Given the description of an element on the screen output the (x, y) to click on. 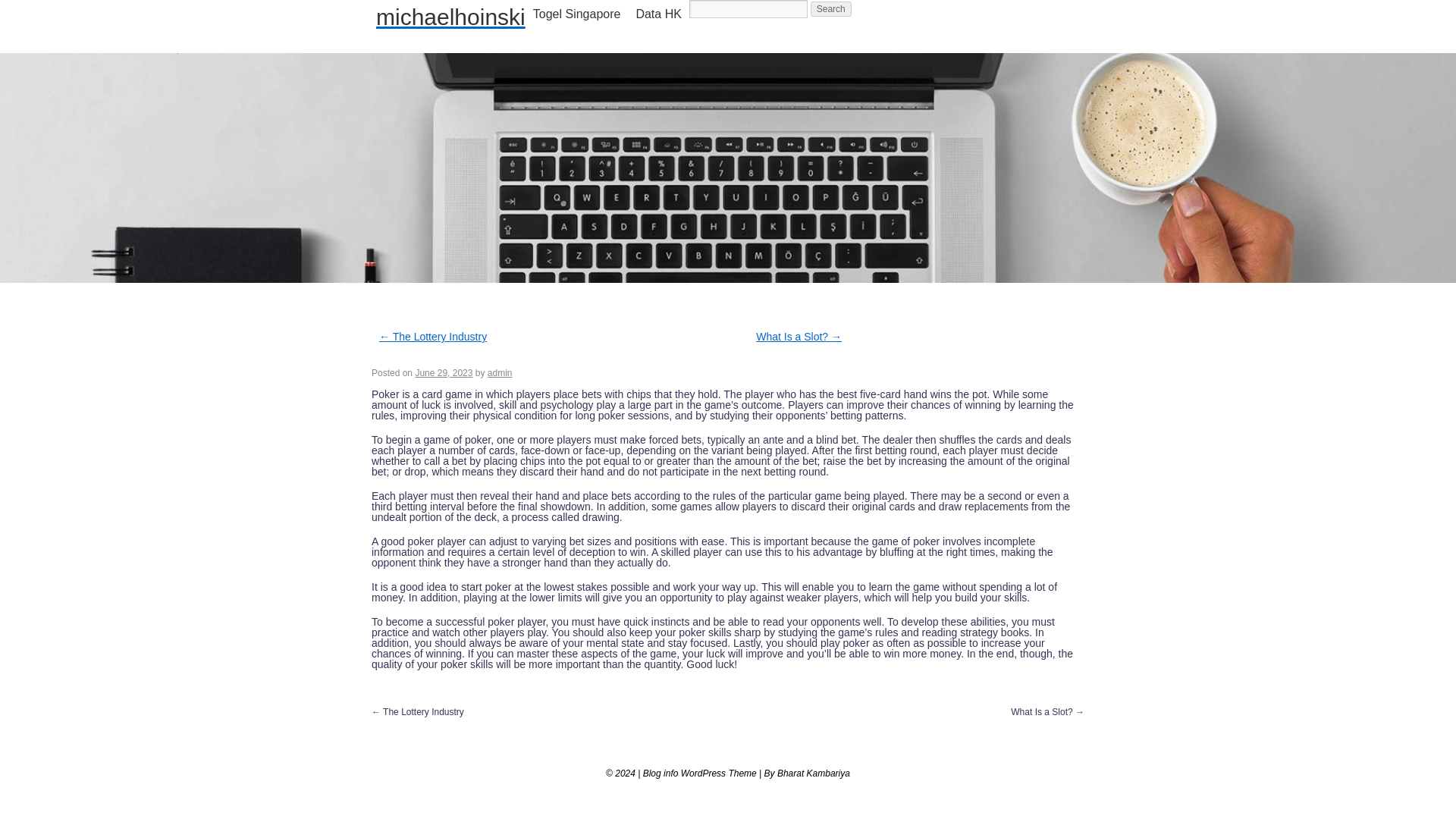
Search (830, 8)
8:10 am (442, 372)
Search (830, 8)
View all posts by admin (499, 372)
Data HK (657, 14)
June 29, 2023 (442, 372)
admin (499, 372)
michaelhoinski (450, 16)
Togel Singapore (576, 14)
